Given the description of an element on the screen output the (x, y) to click on. 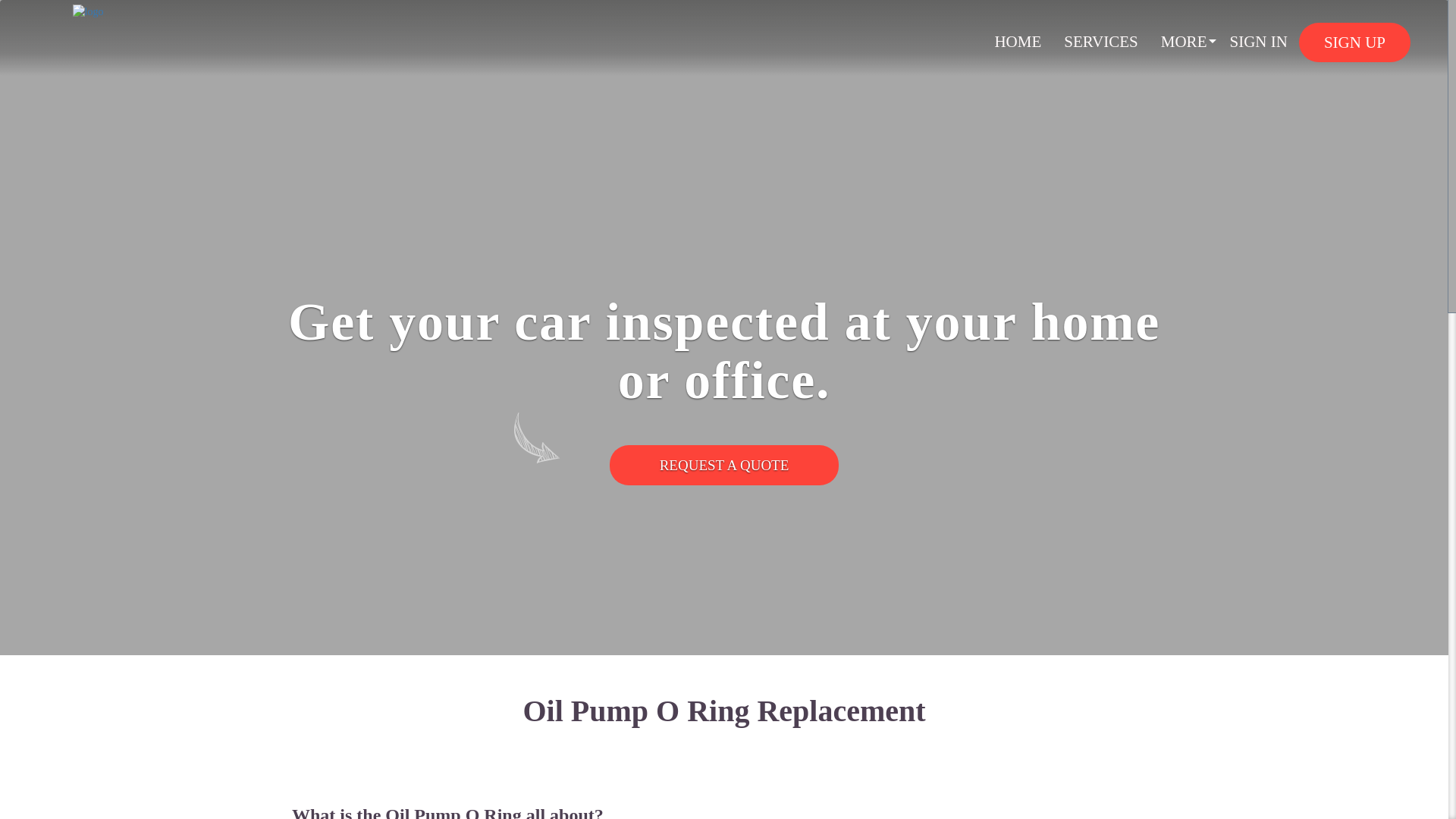
MORE (1184, 41)
REQUEST A QUOTE (725, 465)
SERVICES (1101, 41)
SIGN UP (1354, 42)
SIGN IN (1257, 41)
HOME (1017, 41)
